Given the description of an element on the screen output the (x, y) to click on. 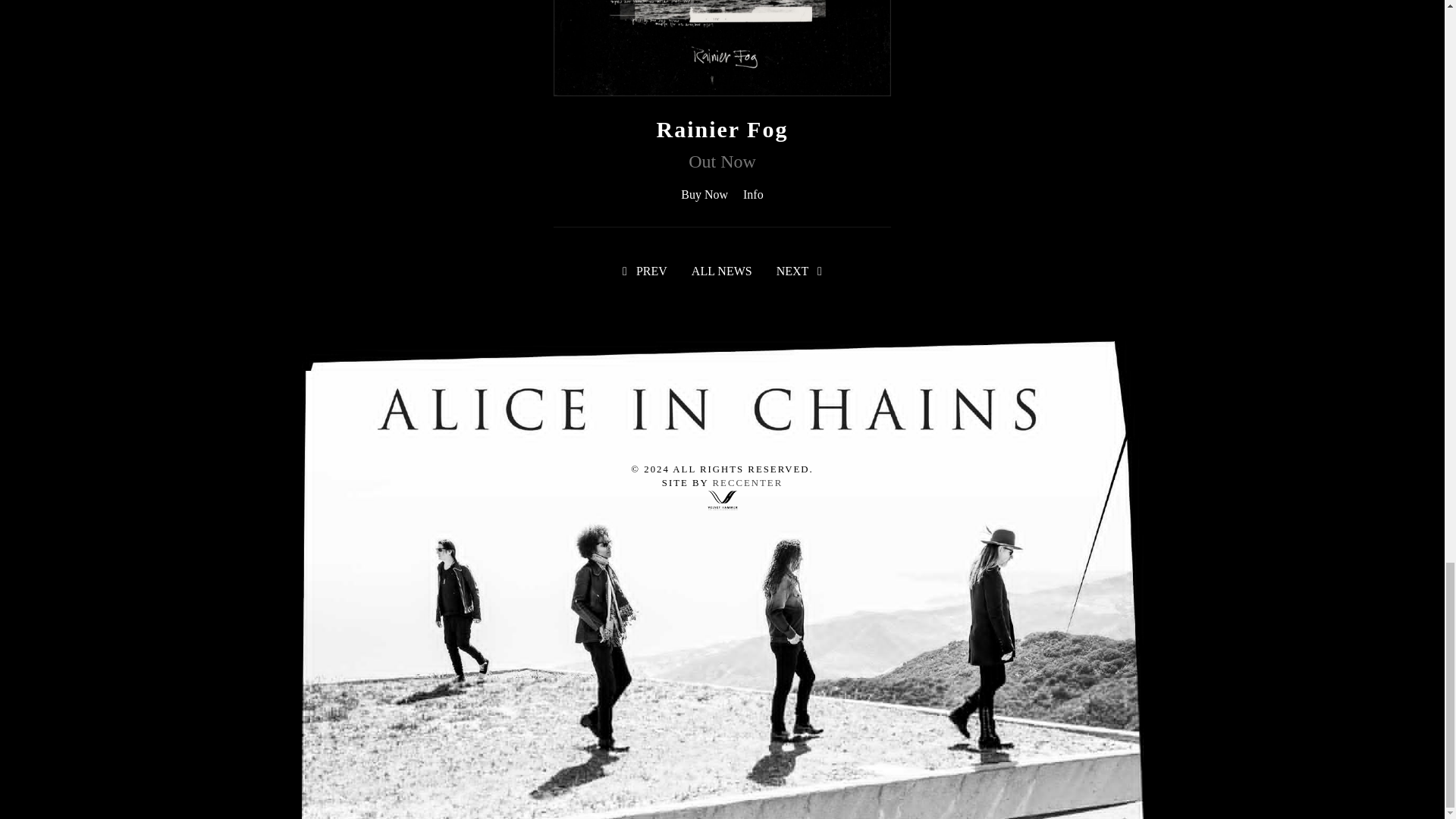
Rainier Fog (721, 129)
  PREV (644, 270)
Info (752, 194)
Buy Now (704, 194)
NEXT   (799, 270)
Buy Now (704, 194)
Listen (752, 194)
RECCENTER (748, 482)
ALL NEWS (721, 270)
Rainier Fog (721, 129)
